Given the description of an element on the screen output the (x, y) to click on. 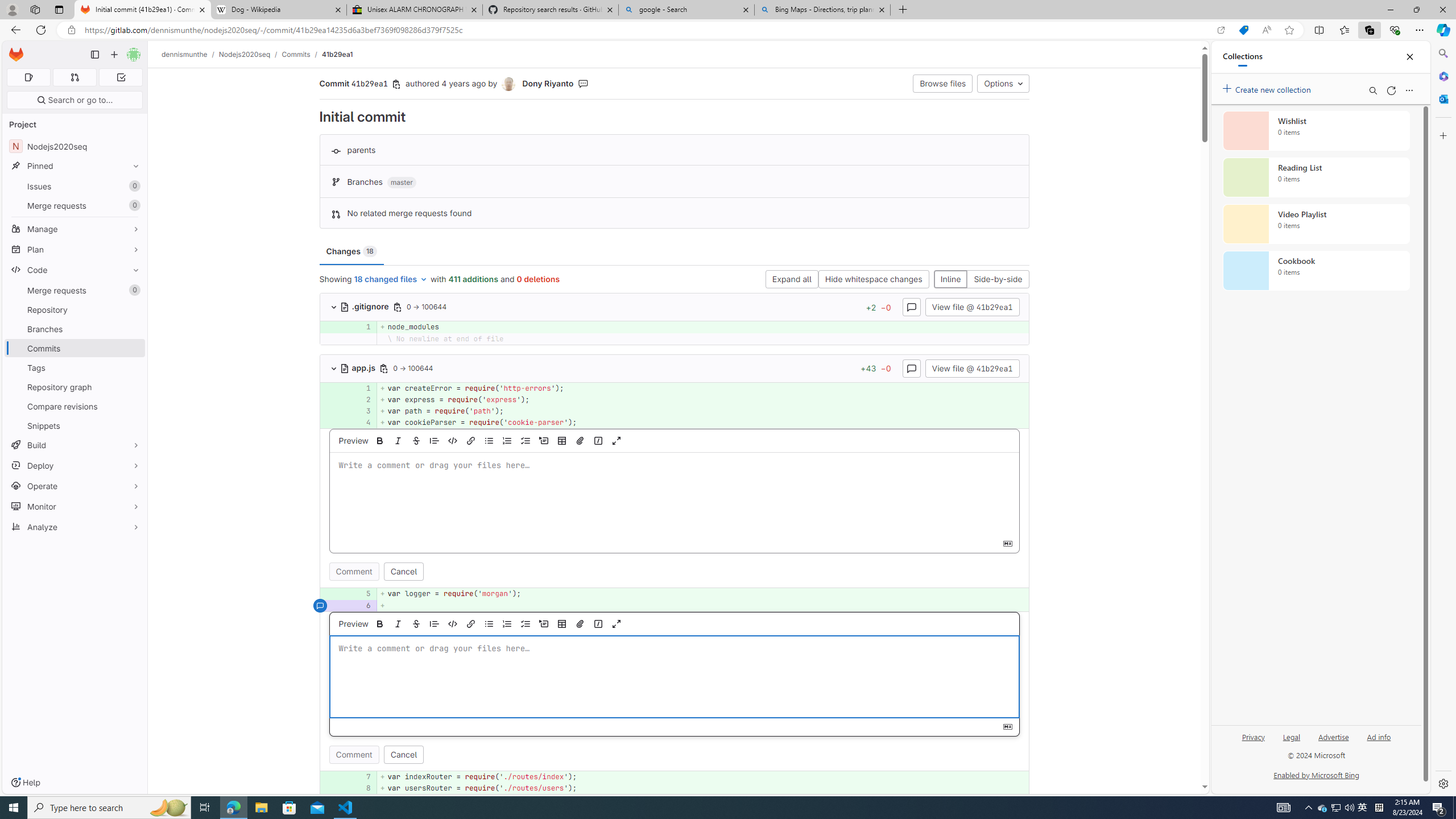
Plan (74, 248)
3 (360, 410)
Add a table (561, 623)
AutomationID: 4a68969ef8e858229267b842dedf42ab5dde4d50_0_1 (674, 387)
Pin Repository graph (132, 386)
Operate (74, 485)
6 (362, 605)
Class: notes_holder js-temp-notes-holder (674, 690)
AutomationID: 4a68969ef8e858229267b842dedf42ab5dde4d50_0_2 (674, 399)
8 (362, 788)
